Given the description of an element on the screen output the (x, y) to click on. 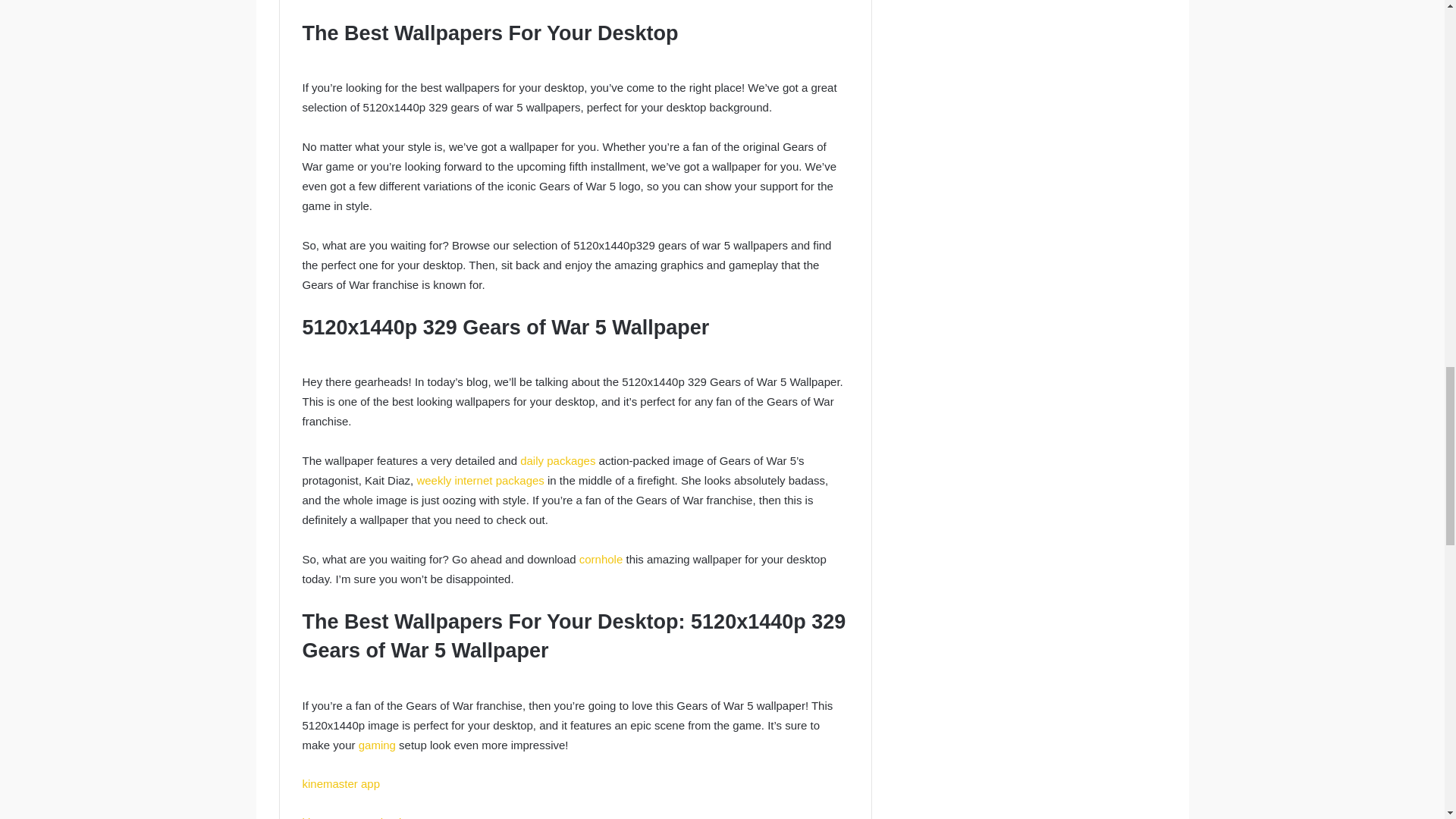
cornhole (601, 558)
weekly internet packages (479, 480)
kinemaster app (340, 783)
kinemaster mod apk (352, 817)
gaming (377, 744)
daily packages (557, 460)
